Given the description of an element on the screen output the (x, y) to click on. 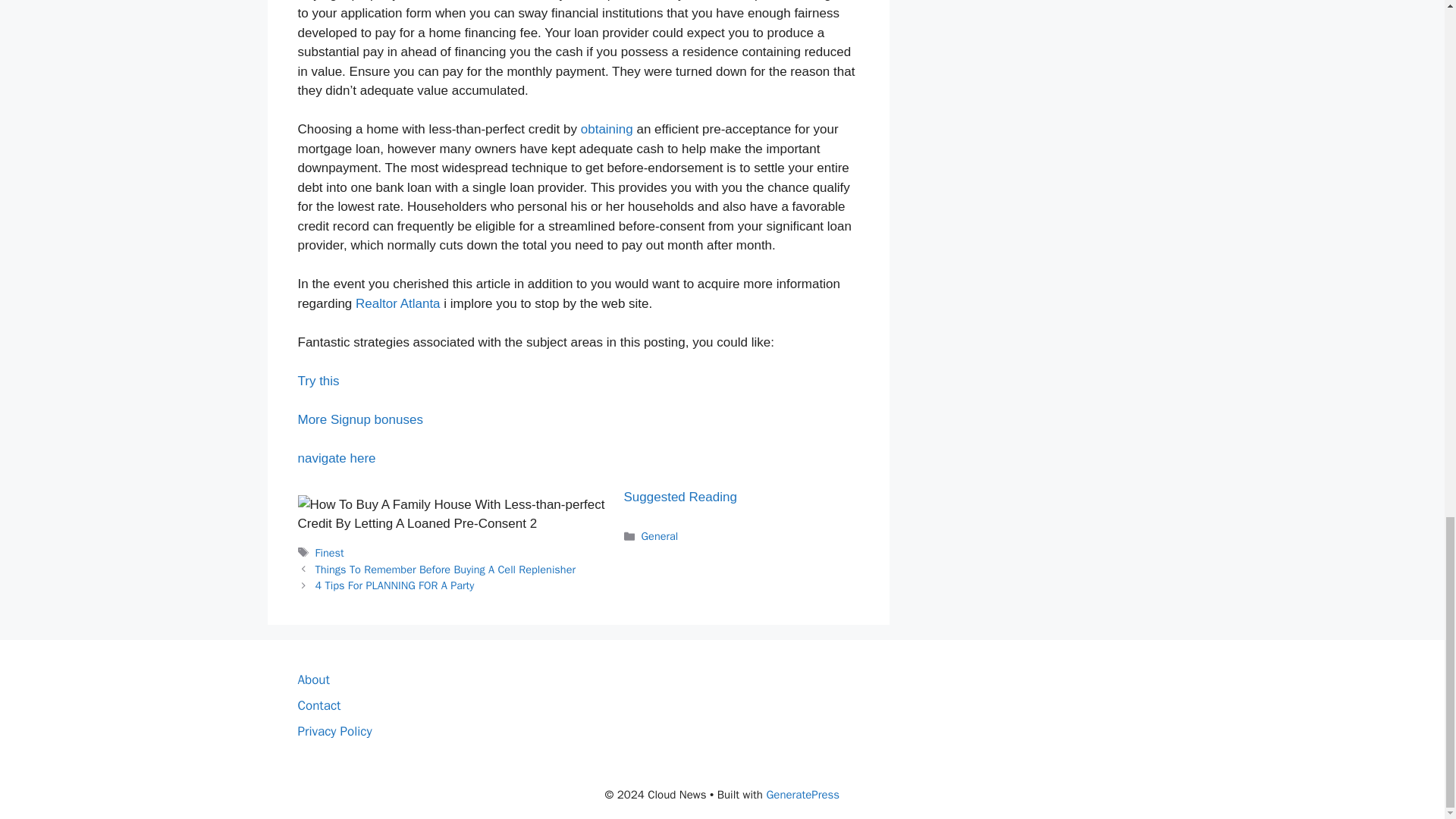
Finest (329, 552)
Things To Remember Before Buying A Cell Replenisher (445, 569)
Suggested Reading (679, 496)
GeneratePress (802, 794)
Privacy Policy (334, 731)
More Signup bonuses (359, 419)
4 Tips For PLANNING FOR A Party (394, 585)
Realtor Atlanta (398, 303)
navigate here (336, 458)
General (660, 535)
obtaining (606, 129)
About (313, 679)
Try this (318, 380)
Contact (318, 705)
